Given the description of an element on the screen output the (x, y) to click on. 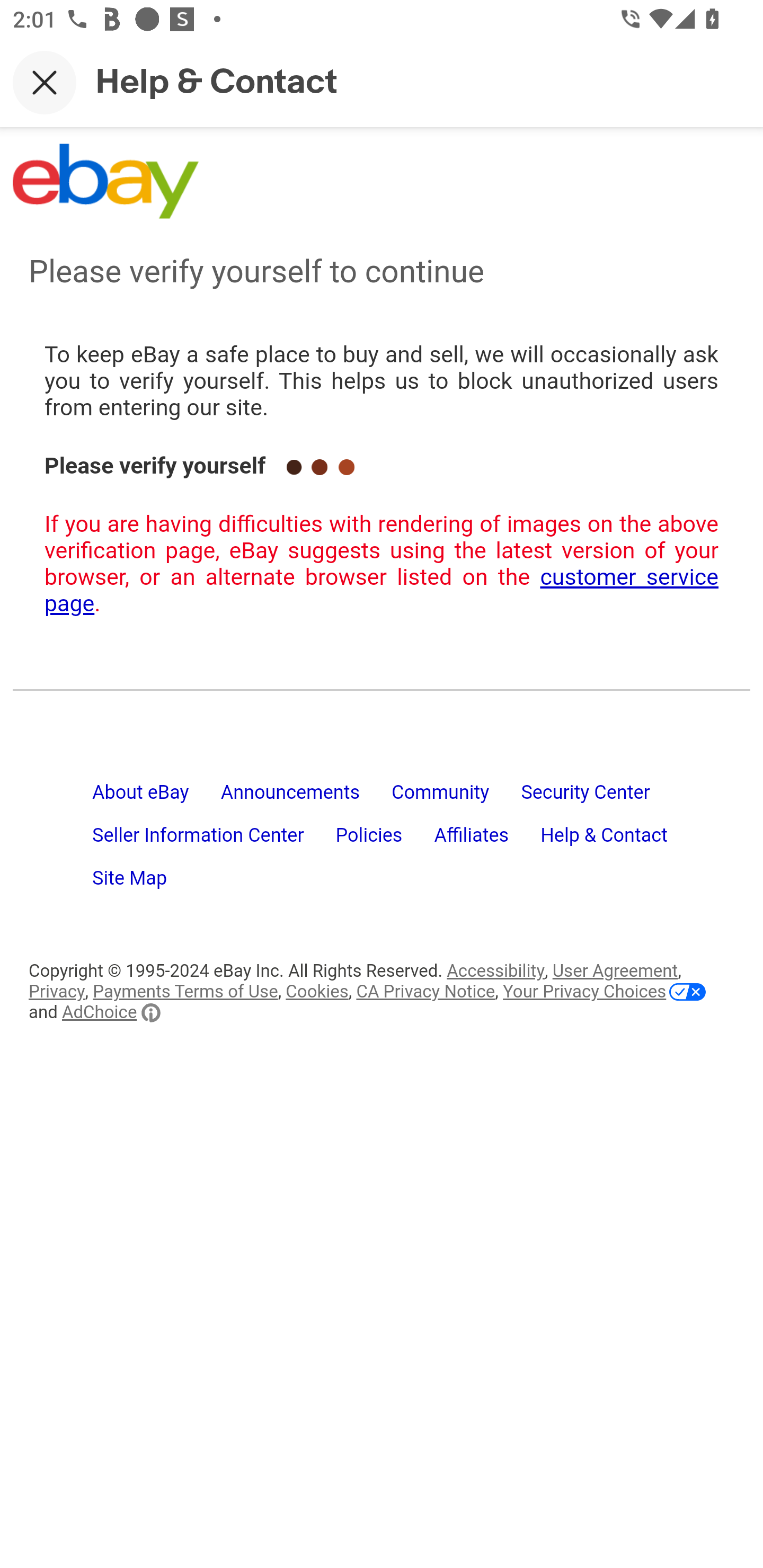
Close (44, 82)
